Given the description of an element on the screen output the (x, y) to click on. 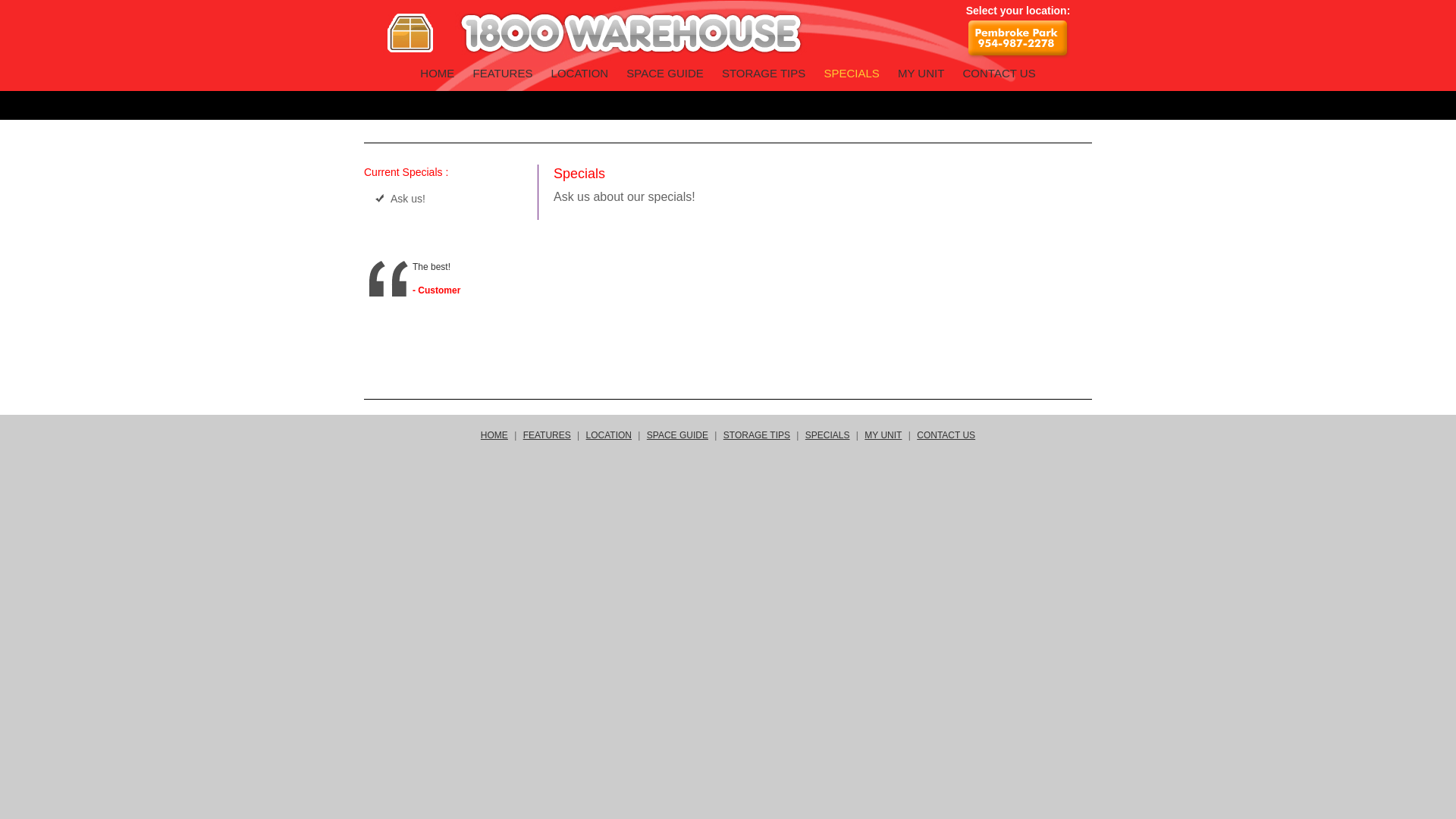
FEATURES Element type: text (503, 72)
HOME Element type: text (493, 434)
CONTACT US Element type: text (999, 72)
LOCATION Element type: text (579, 72)
MY UNIT Element type: text (920, 72)
FEATURES Element type: text (546, 434)
STORAGE TIPS Element type: text (763, 72)
Pembroke Park - (954) 987-2278 Element type: text (1019, 39)
LOCATION Element type: text (608, 434)
SPACE GUIDE Element type: text (677, 434)
SPECIALS Element type: text (827, 434)
SPACE GUIDE Element type: text (664, 72)
MY UNIT Element type: text (882, 434)
HOME Element type: text (437, 72)
CONTACT US Element type: text (946, 434)
STORAGE TIPS Element type: text (756, 434)
SPECIALS Element type: text (850, 72)
